Given the description of an element on the screen output the (x, y) to click on. 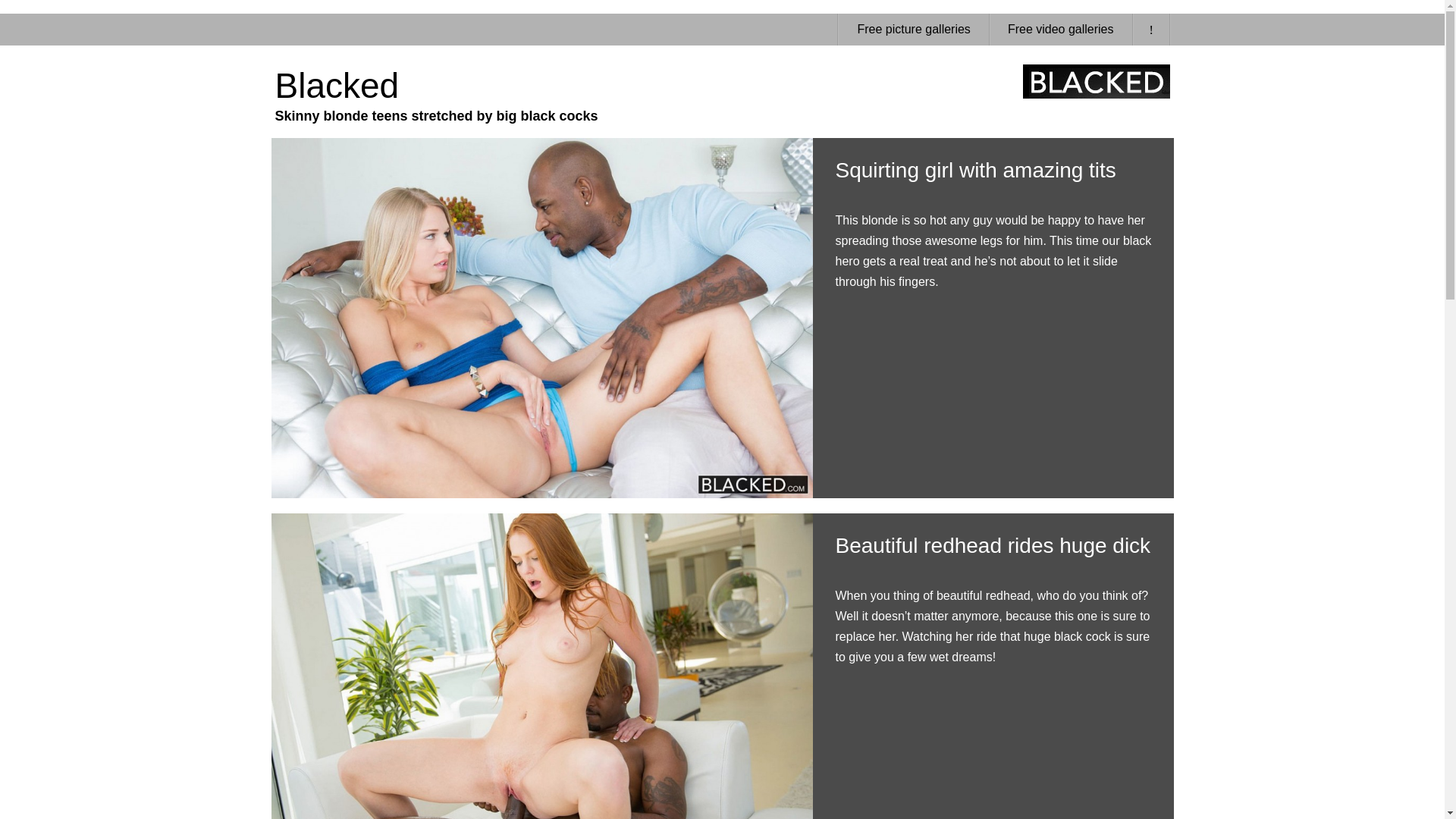
Beautiful redhead rides huge dick (993, 545)
Blacked - Skinny blonde teens stretched by big black cocks (435, 94)
Free video galleries (1061, 29)
Permalink to Beautiful redhead rides huge dick (993, 545)
Free picture galleries (435, 94)
Permalink to Squirting girl with amazing tits (913, 29)
Squirting girl with amazing tits (975, 169)
Search (975, 169)
